Given the description of an element on the screen output the (x, y) to click on. 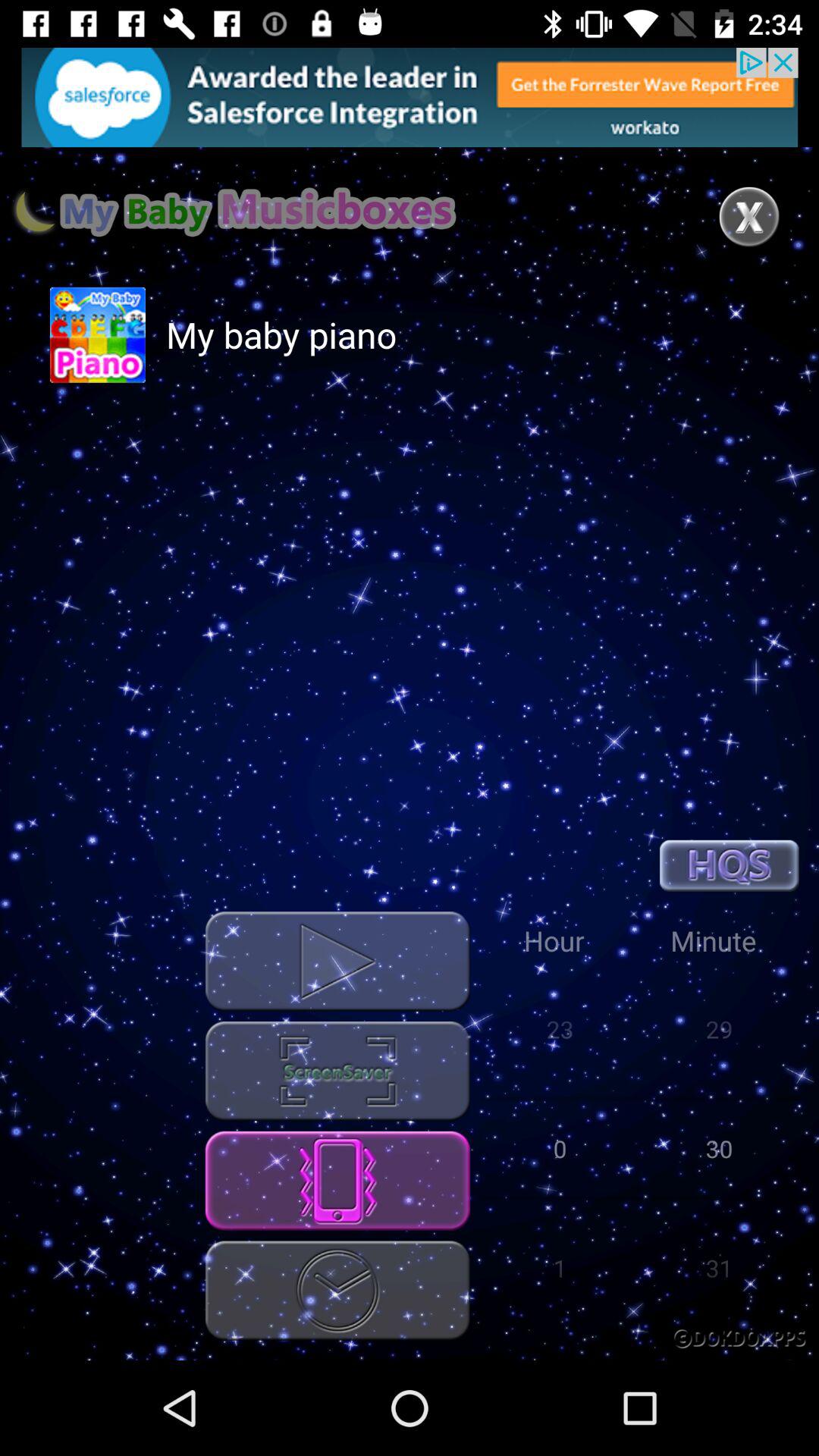
close the page (749, 216)
